Given the description of an element on the screen output the (x, y) to click on. 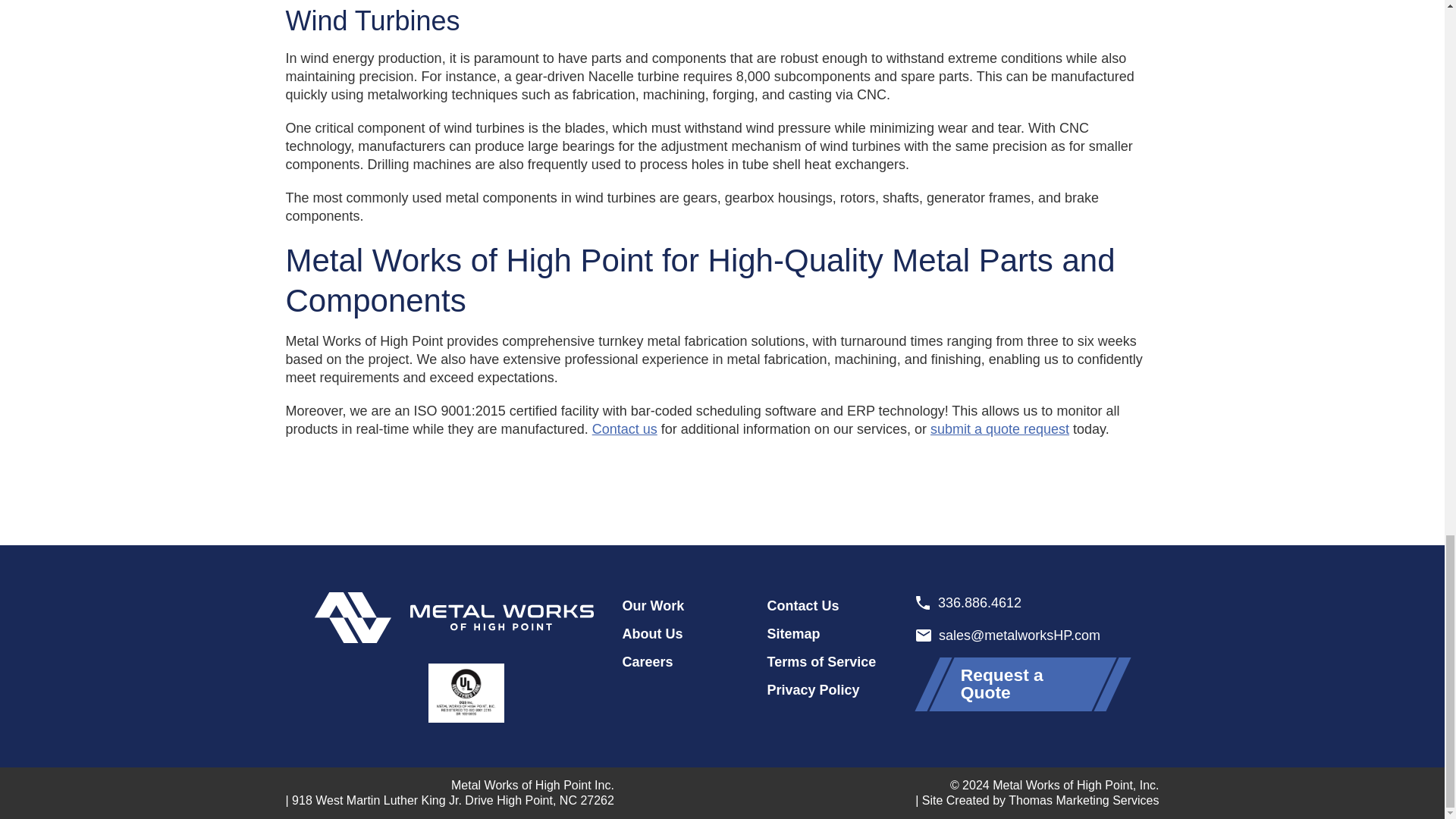
Metal Works of High Point, Inc. (454, 617)
Quality Management  (465, 692)
